Given the description of an element on the screen output the (x, y) to click on. 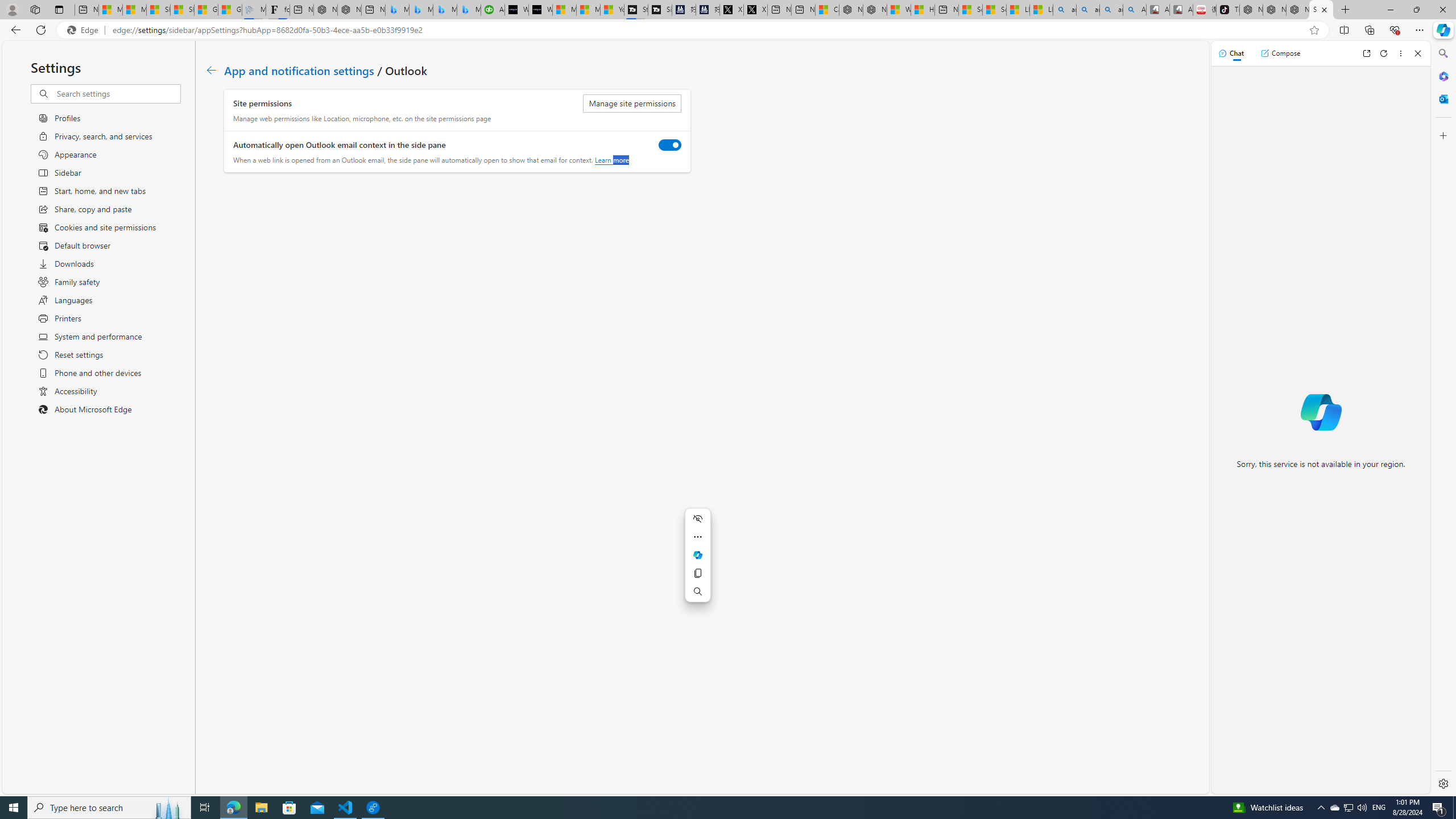
Accounting Software for Accountants, CPAs and Bookkeepers (492, 9)
